Given the description of an element on the screen output the (x, y) to click on. 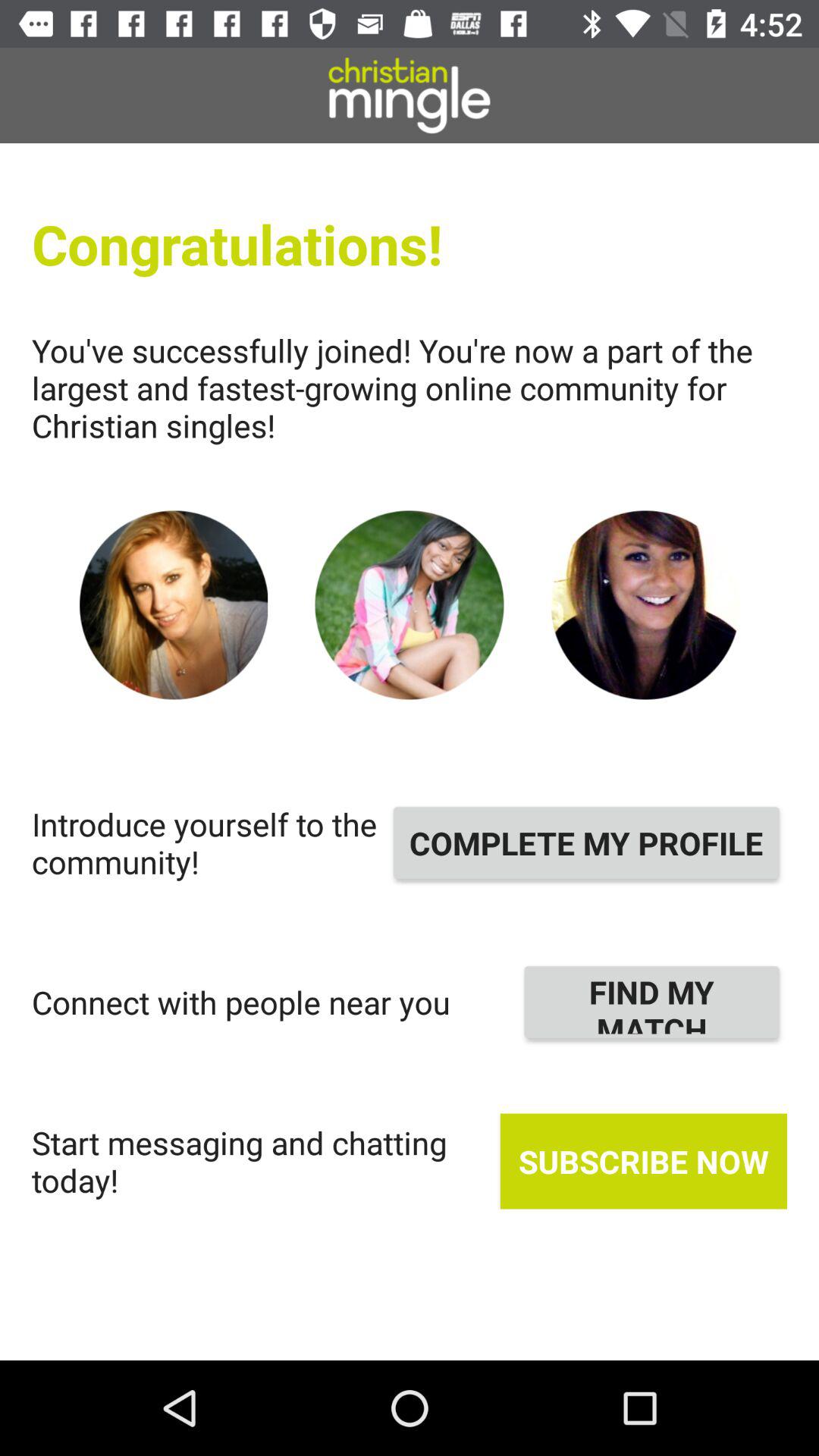
launch the item to the right of the connect with people item (651, 1001)
